Given the description of an element on the screen output the (x, y) to click on. 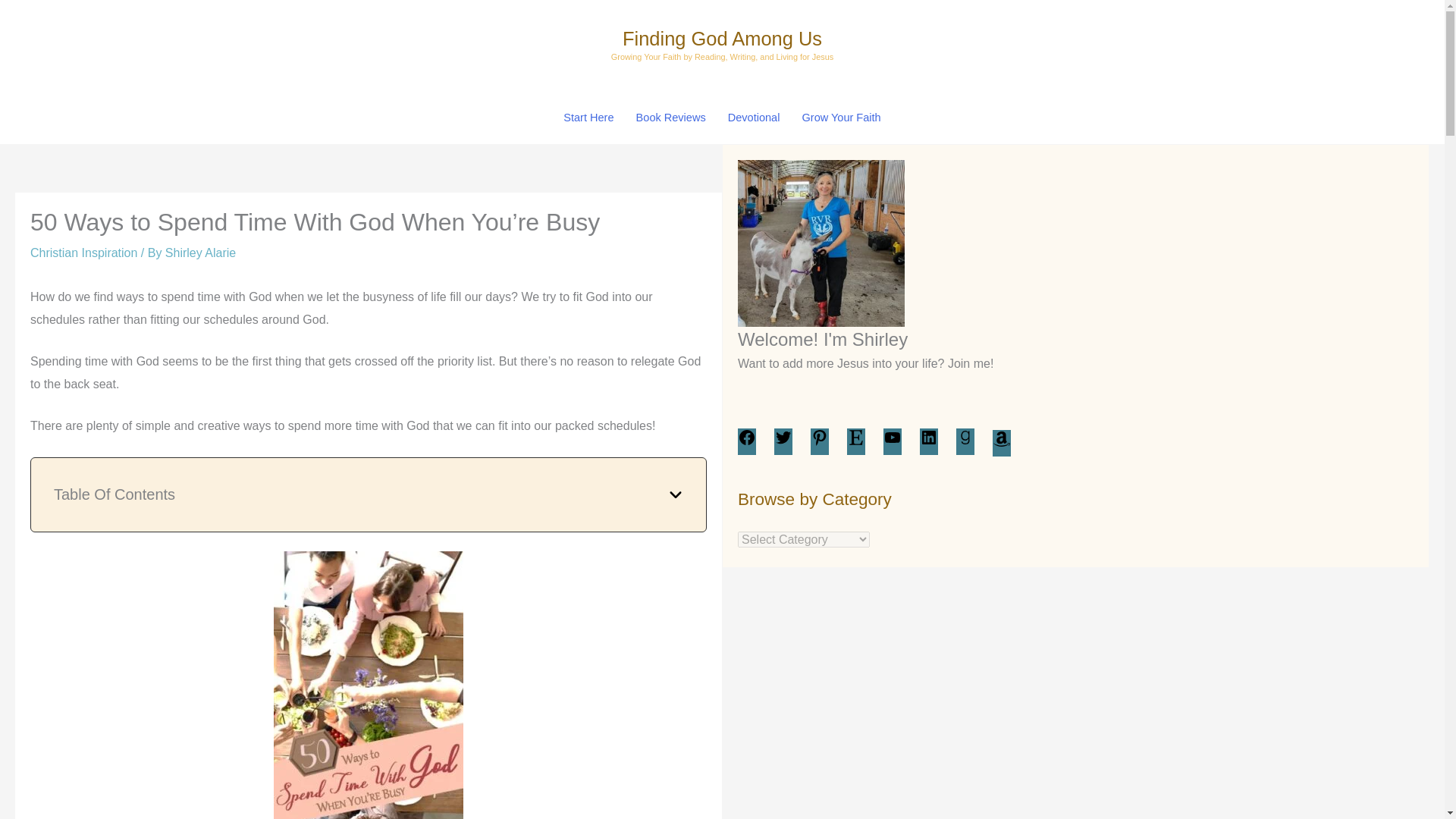
Finding God Among Us (722, 38)
Book Reviews (670, 117)
View all posts by Shirley Alarie (200, 252)
Start Here (588, 117)
Grow Your Faith (840, 117)
Shirley Alarie (200, 252)
Devotional (753, 117)
Christian Inspiration (83, 252)
